Given the description of an element on the screen output the (x, y) to click on. 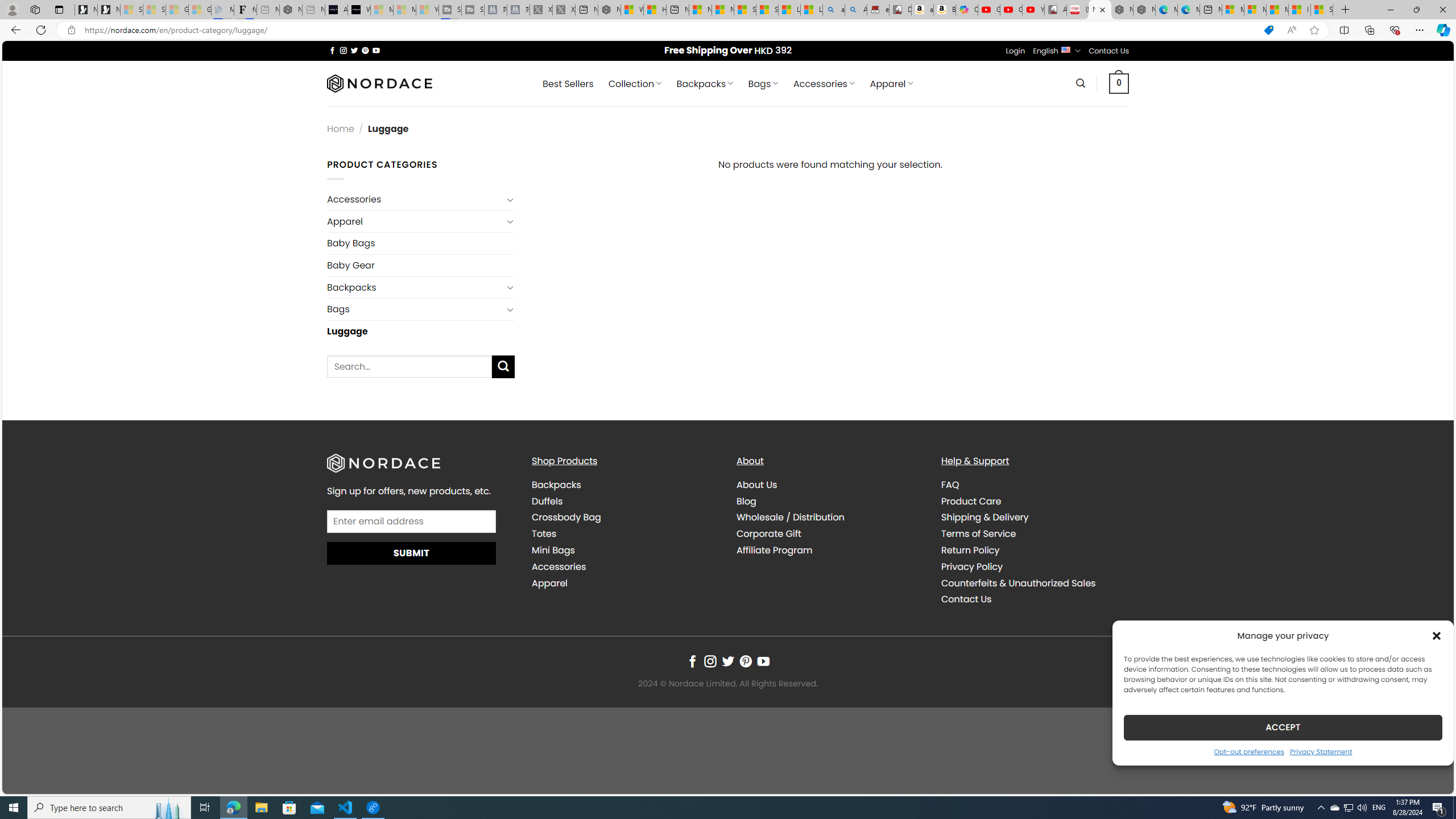
Privacy Statement (1321, 750)
Nordace - My Account (609, 9)
Contact Us (965, 599)
FAQ (1034, 484)
Privacy Policy (971, 566)
Newsletter Sign Up (109, 9)
Nordace - Luggage (1099, 9)
Terms of Service (1034, 533)
Luggage (421, 331)
Crossbody Bag (566, 517)
English (1065, 49)
